Given the description of an element on the screen output the (x, y) to click on. 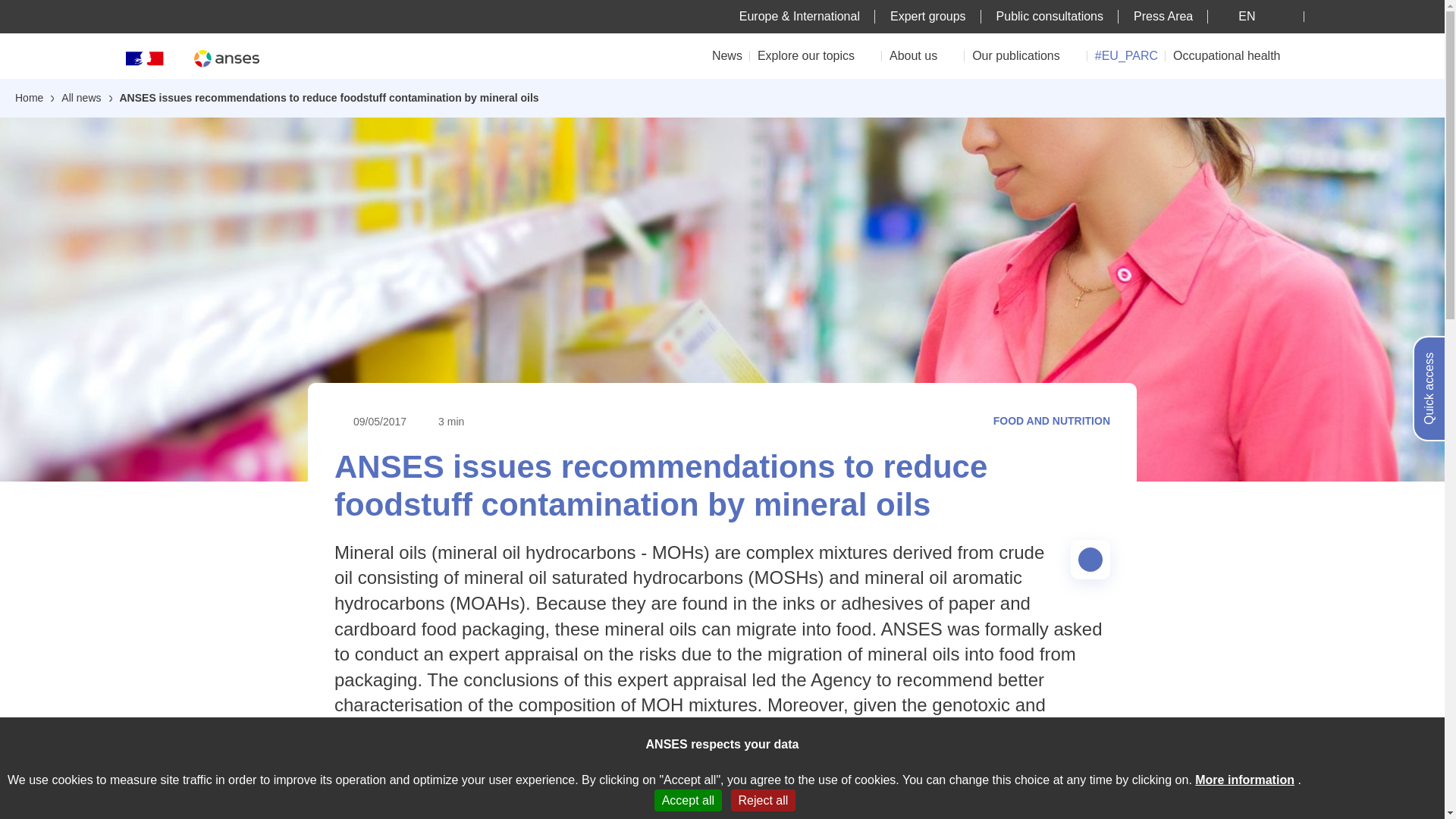
Public consultations (1049, 15)
News (726, 55)
EN (1255, 16)
Press Area (1163, 15)
About us (922, 55)
Anses, back to home (226, 58)
Expert groups (927, 15)
Explore our topics (816, 55)
